Given the description of an element on the screen output the (x, y) to click on. 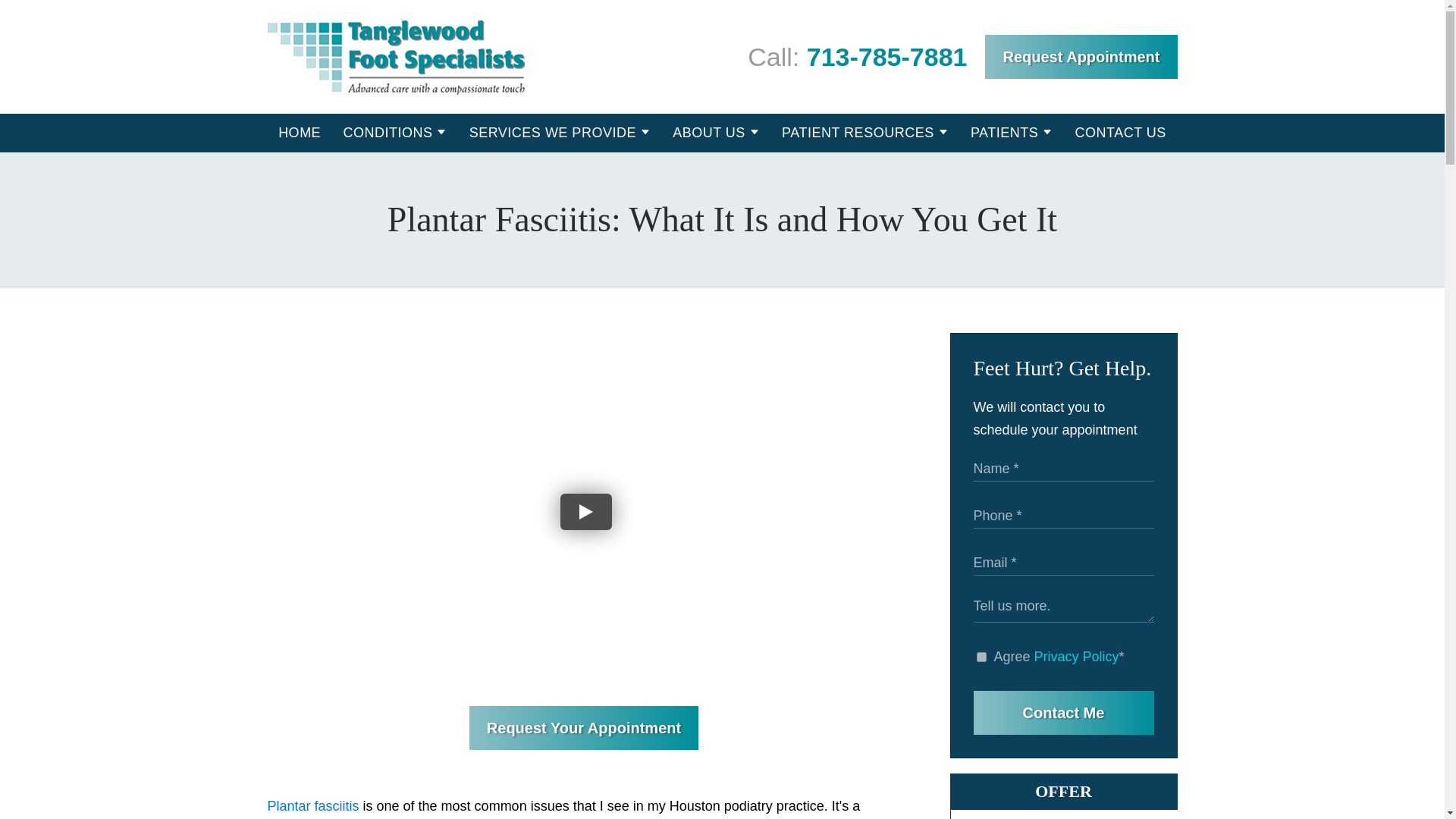
HOME (299, 132)
713-785-7881 (887, 56)
1 (981, 656)
call local (887, 56)
Request Appointment (1080, 56)
SERVICES WE PROVIDE (552, 132)
CONDITIONS (387, 132)
